Given the description of an element on the screen output the (x, y) to click on. 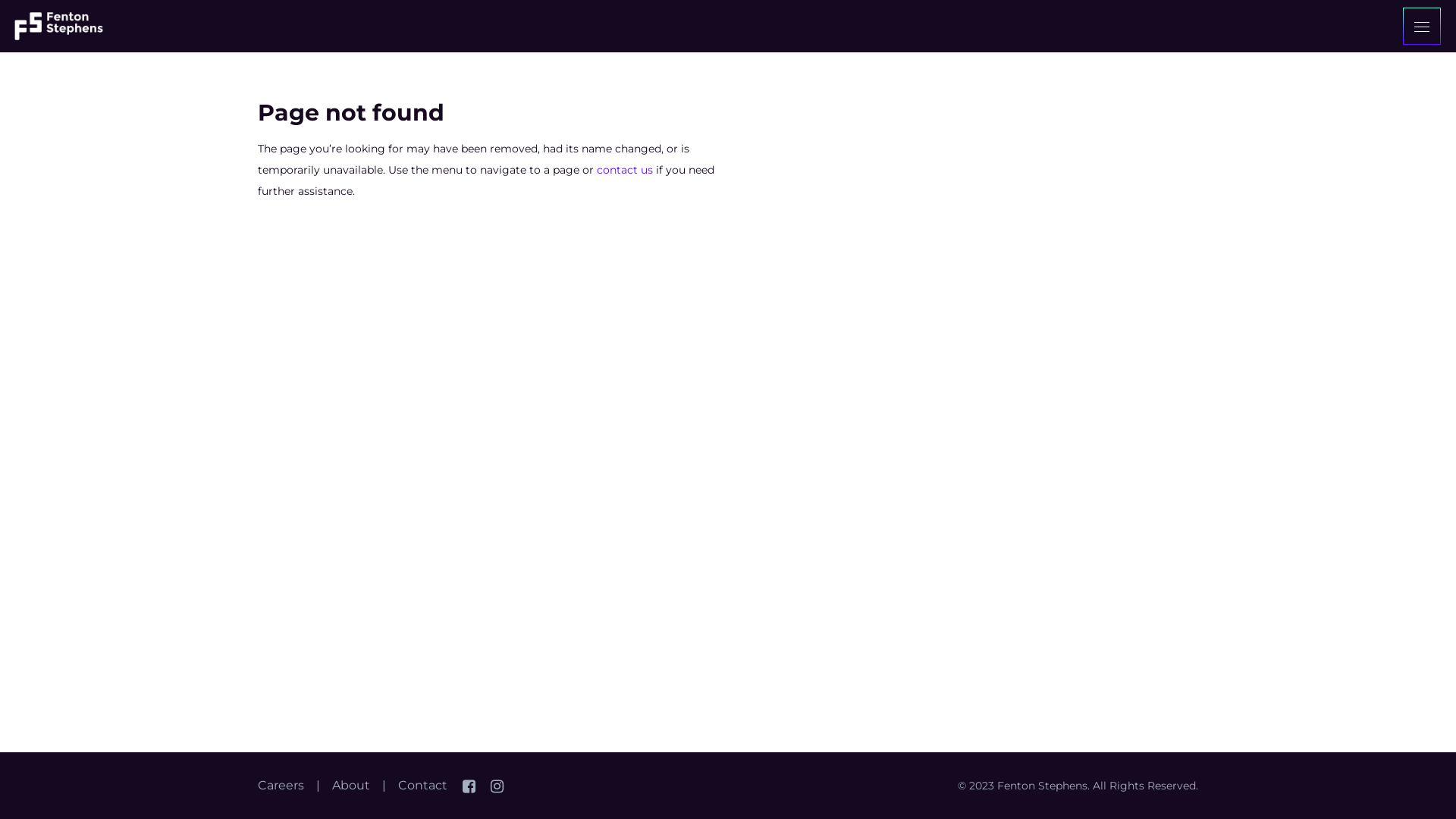
Careers Element type: text (280, 785)
contact us Element type: text (624, 169)
Contact Element type: text (422, 785)
About Element type: text (351, 785)
